Given the description of an element on the screen output the (x, y) to click on. 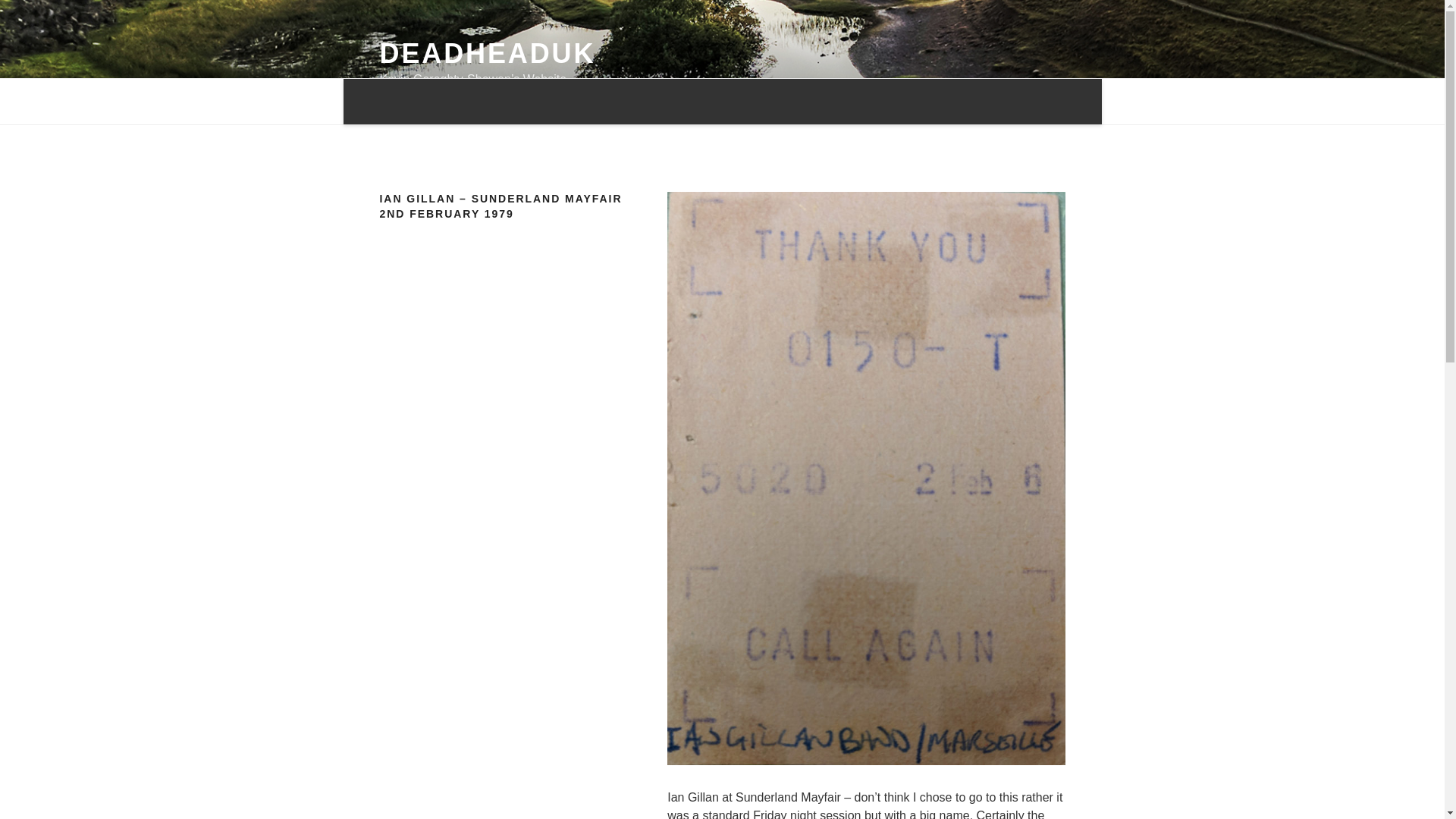
DEADHEADUK (486, 52)
